Given the description of an element on the screen output the (x, y) to click on. 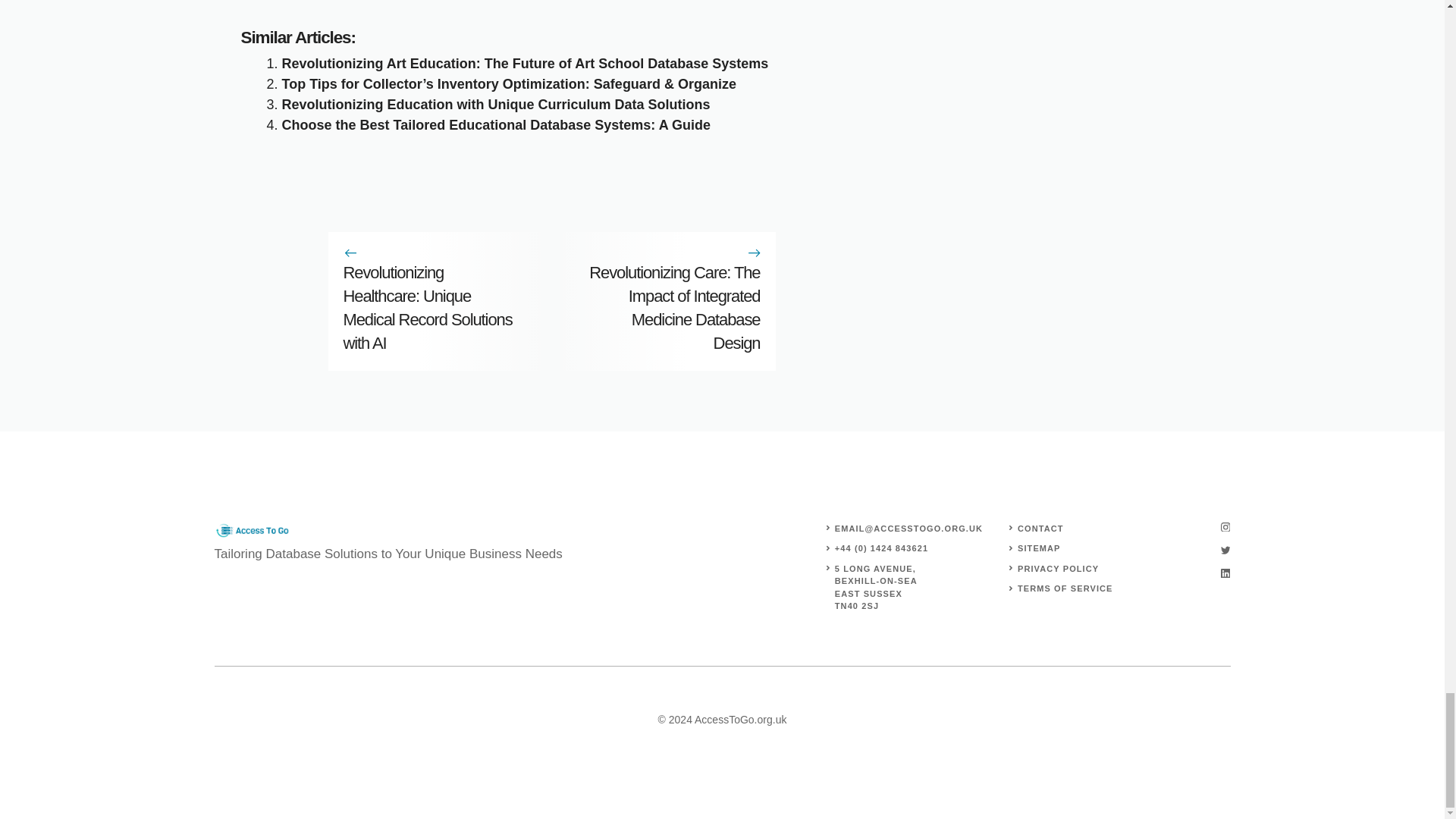
CONTACT (1040, 528)
